Given the description of an element on the screen output the (x, y) to click on. 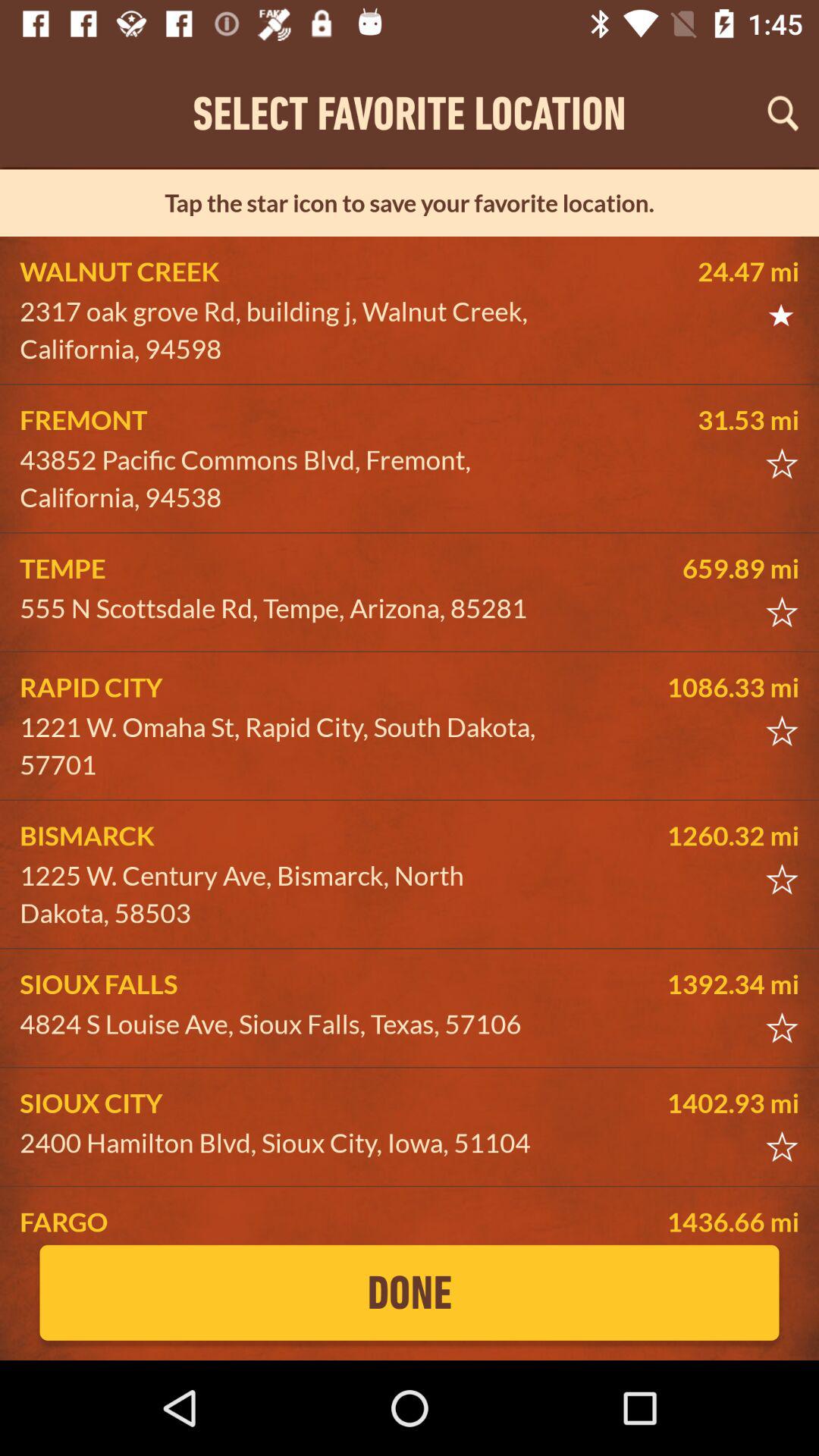
launch the icon to the left of 24.47 mi (285, 330)
